Given the description of an element on the screen output the (x, y) to click on. 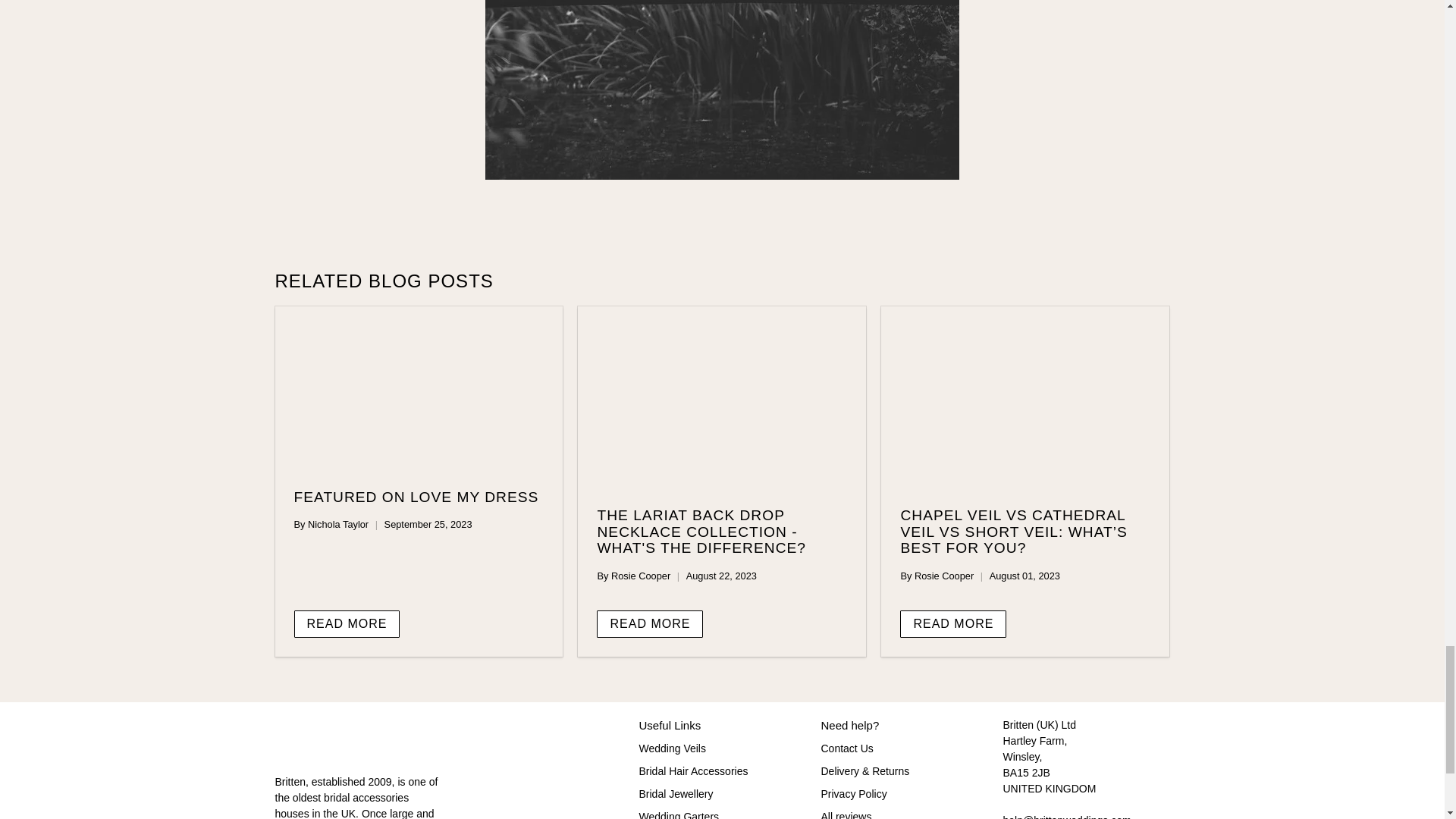
Featured on Love My Dress (419, 388)
Featured on Love My Dress (416, 496)
